Given the description of an element on the screen output the (x, y) to click on. 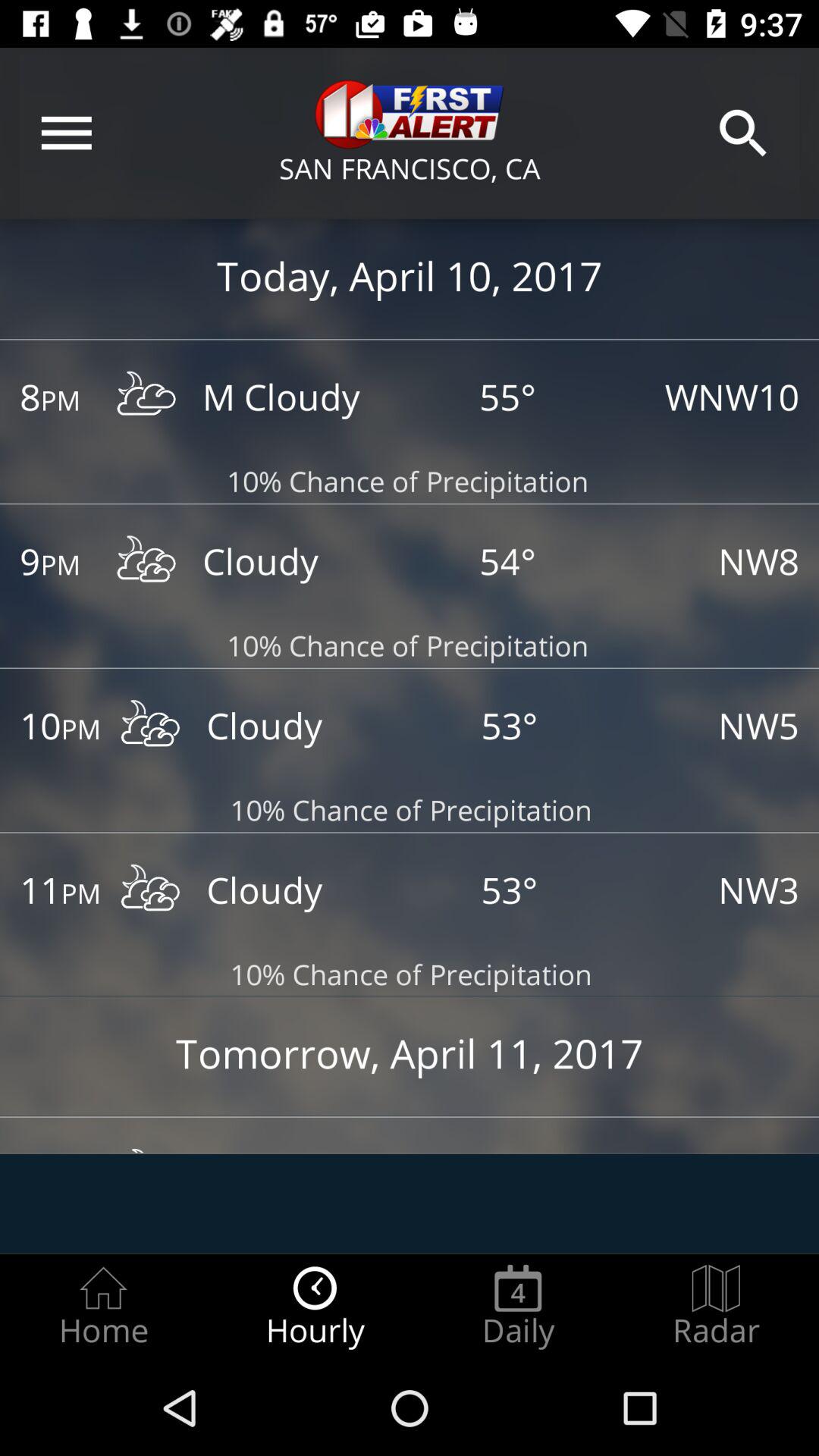
click on the button which is to the right of daily button (716, 1306)
select the icon which is next to the 9pm (146, 562)
